Given the description of an element on the screen output the (x, y) to click on. 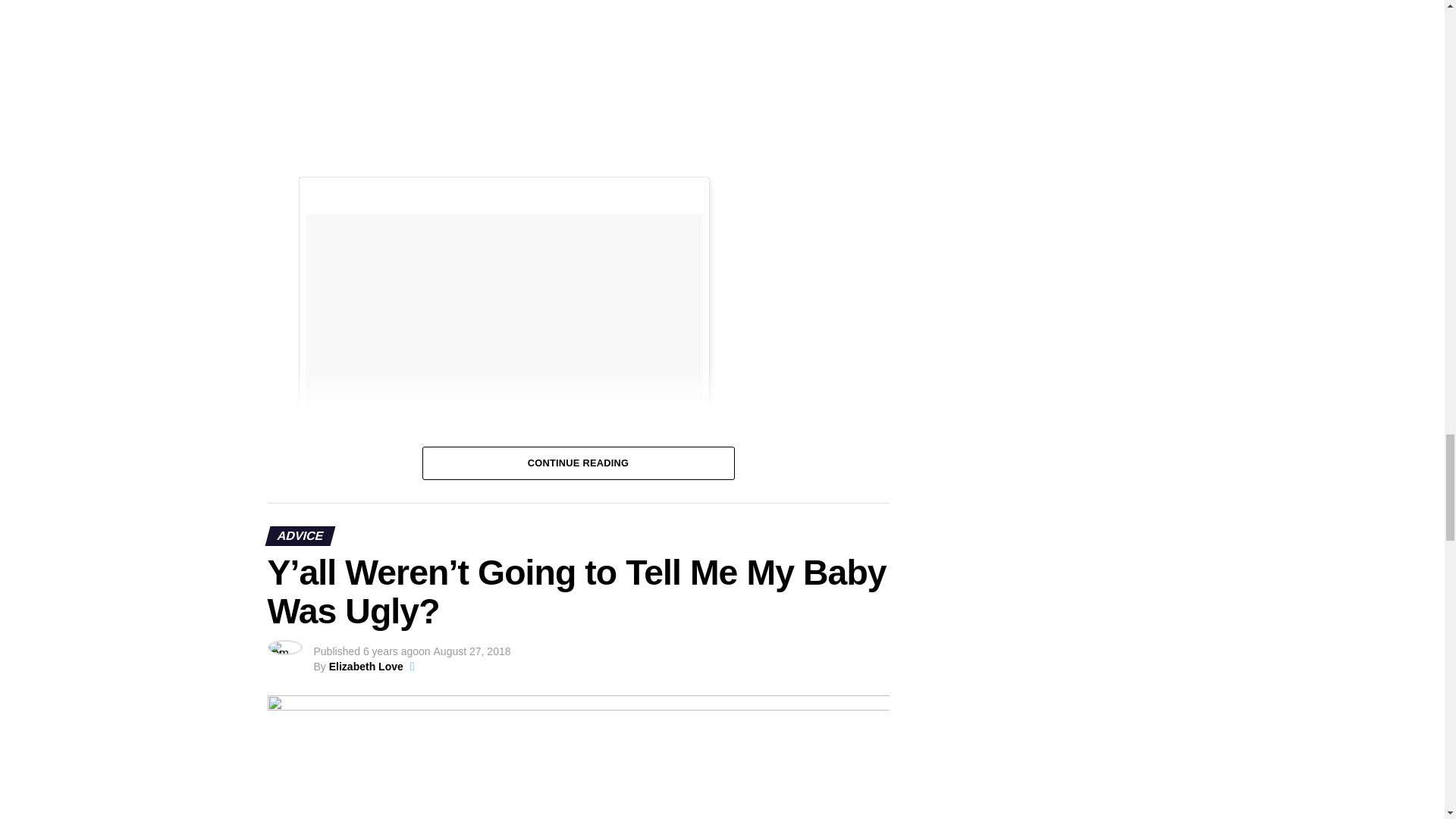
Posts by Elizabeth Love (366, 666)
